Given the description of an element on the screen output the (x, y) to click on. 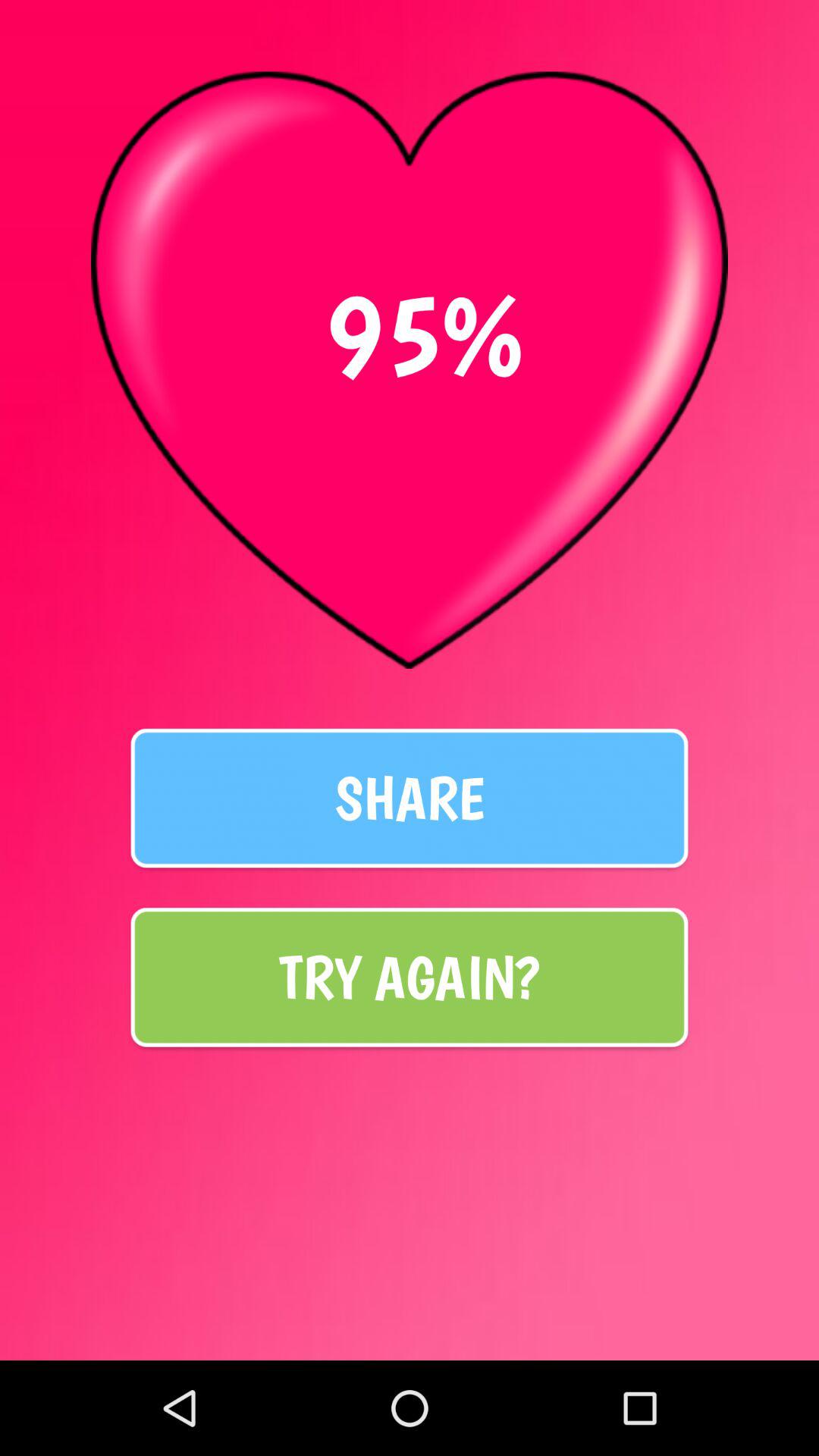
turn off the icon below the share icon (409, 977)
